Given the description of an element on the screen output the (x, y) to click on. 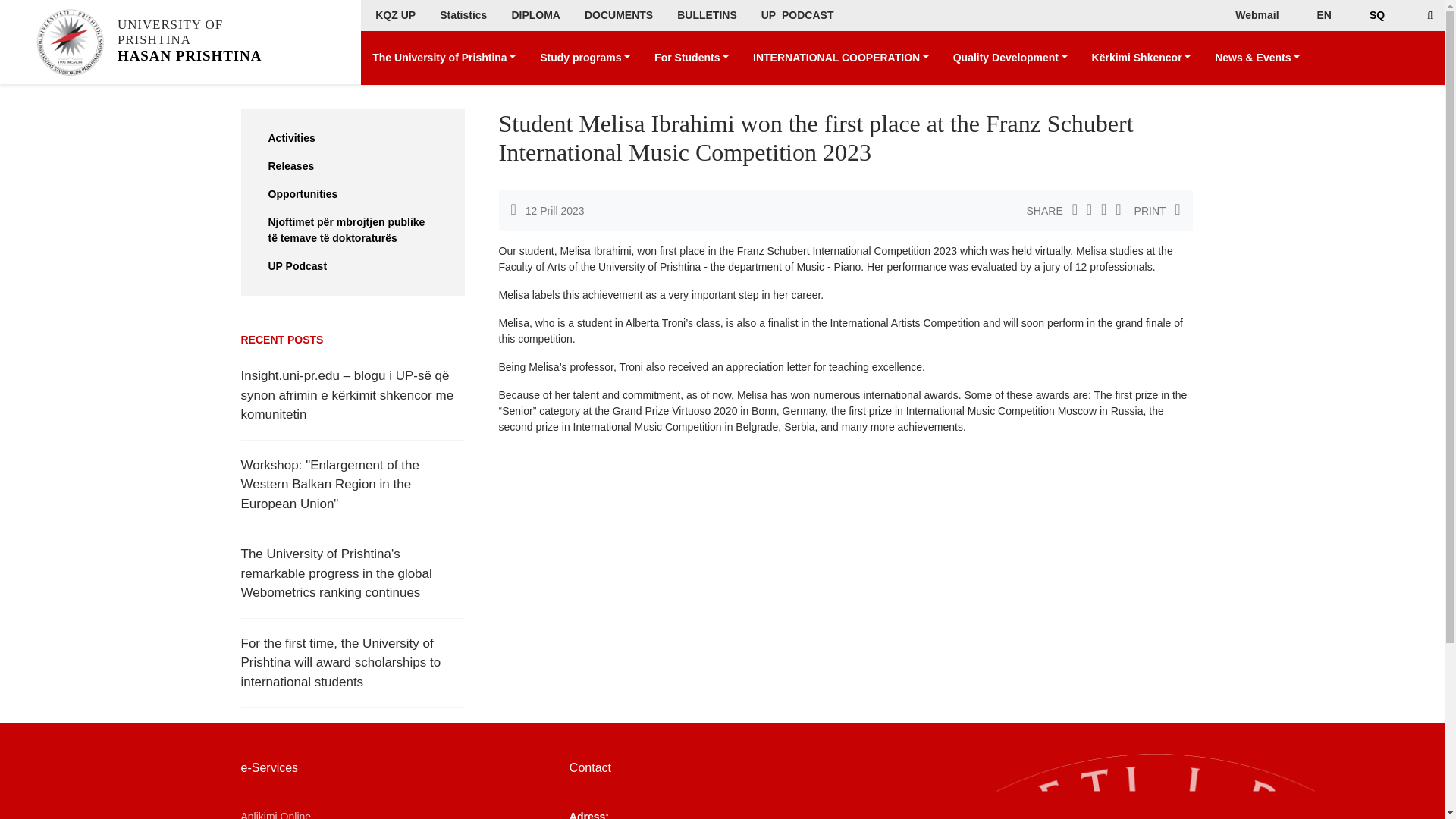
KQZ UP (394, 15)
DOCUMENTS (618, 15)
DIPLOMA (535, 15)
The University of Prishtina (443, 57)
BULLETINS (706, 15)
For Students (691, 57)
SQ (1377, 15)
Study programs (585, 57)
Webmail (1256, 15)
